Given the description of an element on the screen output the (x, y) to click on. 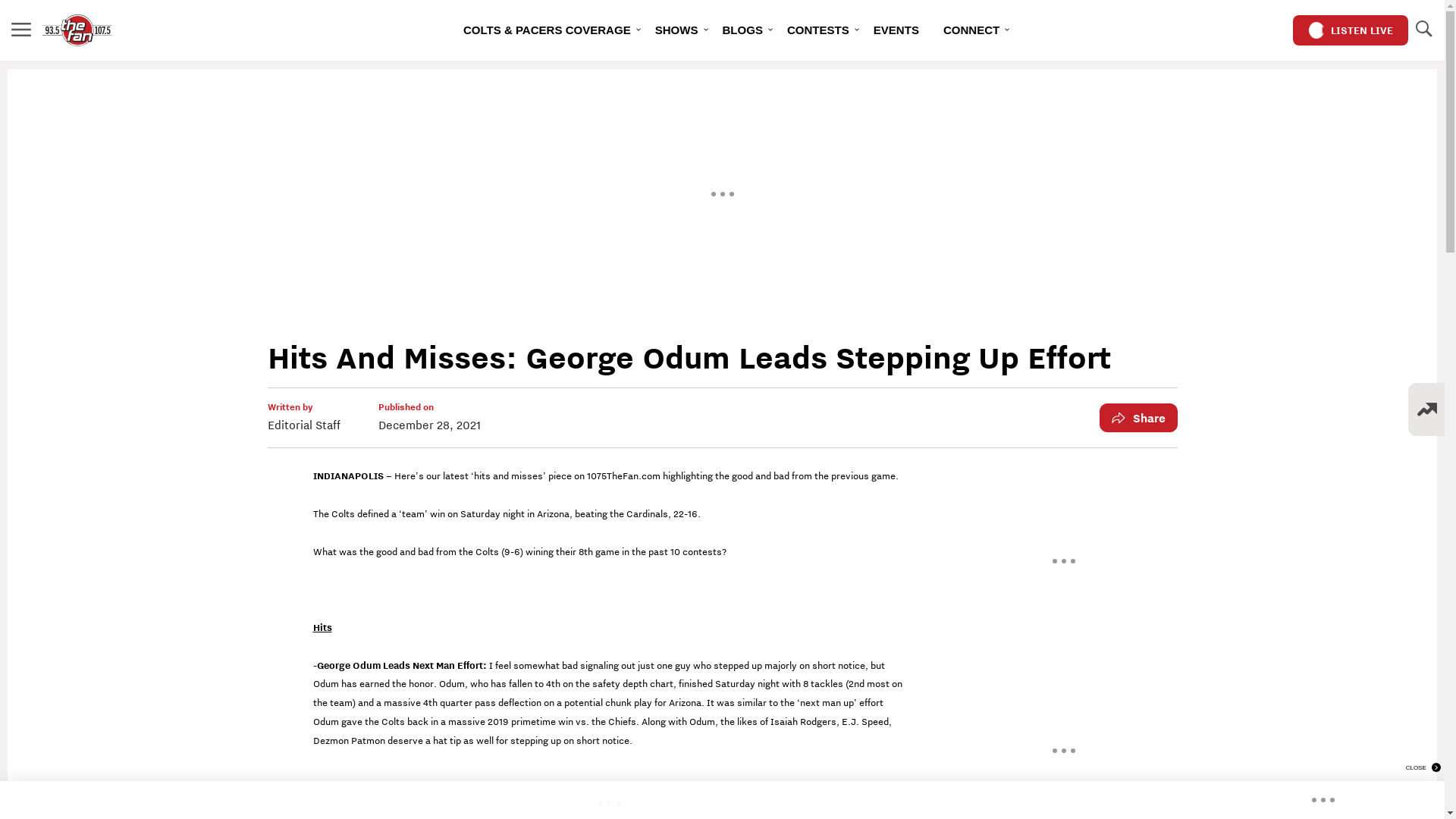
CONNECT Element type: text (971, 29)
EVENTS Element type: text (896, 29)
SHOWS Element type: text (676, 29)
COLTS & PACERS COVERAGE Element type: text (547, 29)
CONTESTS Element type: text (818, 29)
LISTEN LIVE Element type: text (1350, 30)
Share Element type: text (1138, 417)
MENU Element type: text (21, 30)
BLOGS Element type: text (741, 29)
TOGGLE SEARCH Element type: text (1423, 30)
Editorial Staff Element type: text (302, 425)
